Given the description of an element on the screen output the (x, y) to click on. 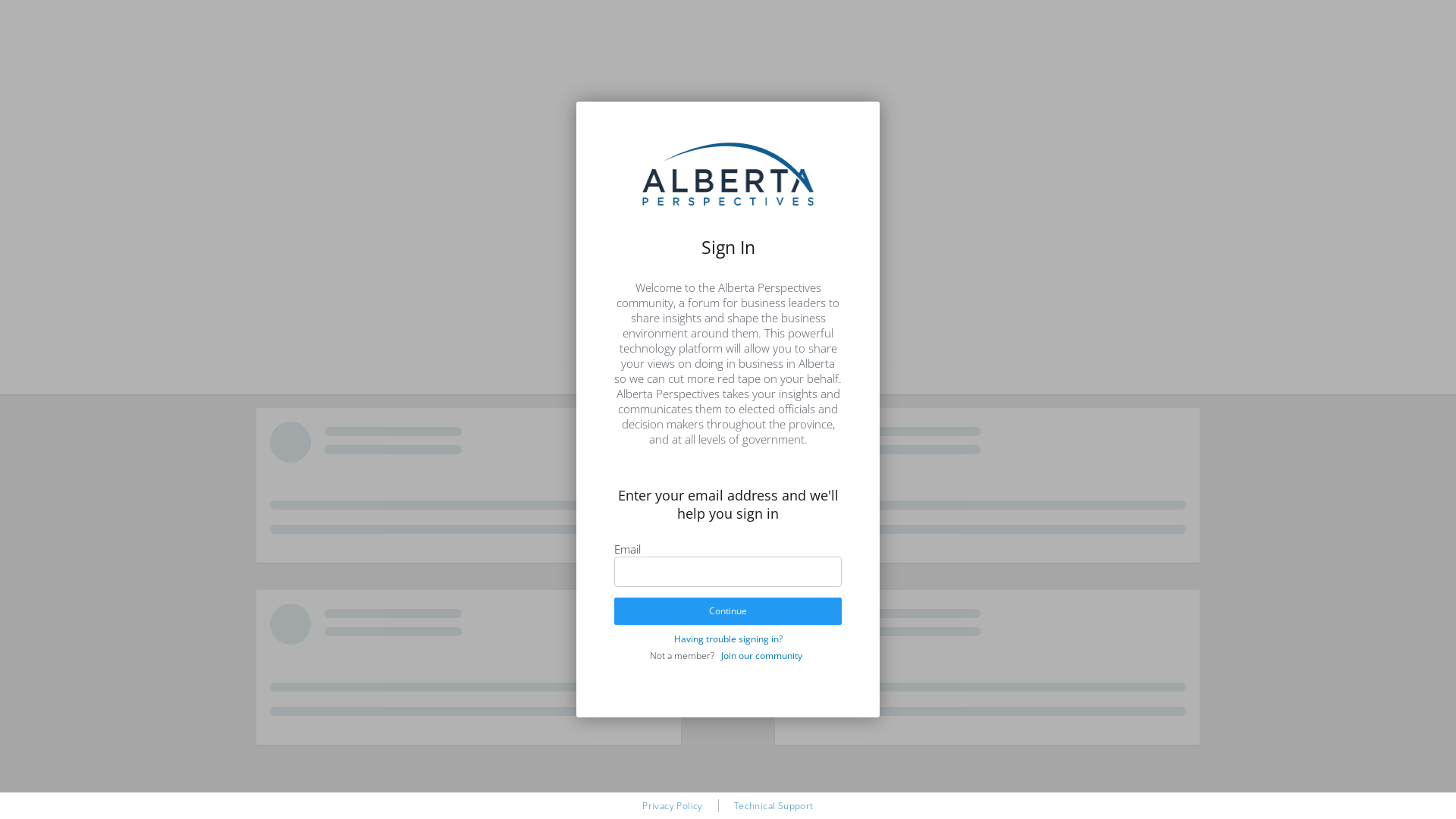
Privacy Policy Element type: text (672, 805)
Join our community Element type: text (760, 654)
Continue Element type: text (727, 610)
Having trouble signing in? Element type: text (727, 637)
Technical Support Element type: text (773, 805)
